Given the description of an element on the screen output the (x, y) to click on. 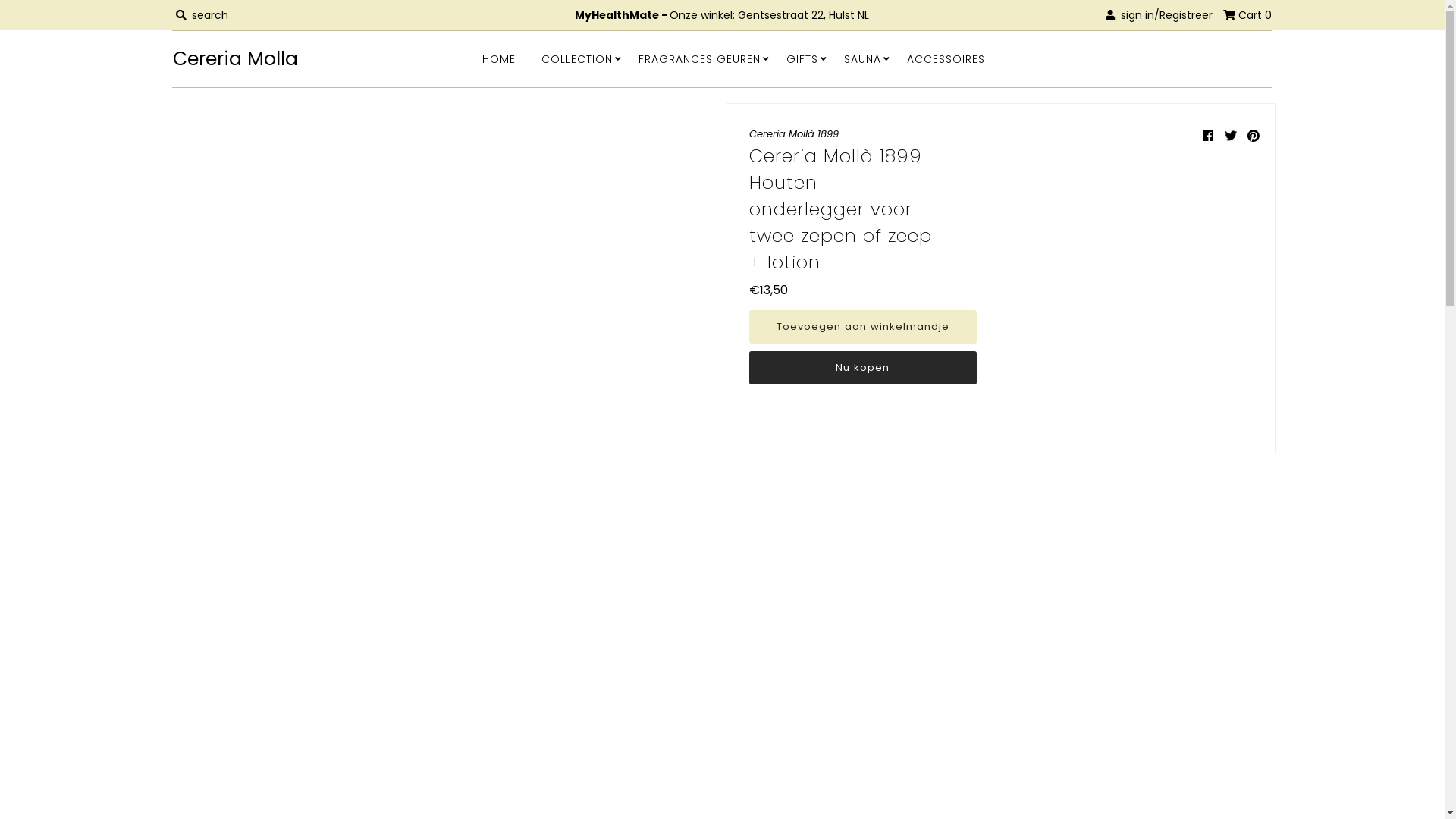
Toevoegen aan winkelmandje Element type: text (862, 326)
SAUNA Element type: text (862, 58)
HOME Element type: text (498, 58)
Cereria Molla Element type: text (282, 58)
 Cart 0 Element type: text (1247, 15)
Share on Twitter Element type: hover (1230, 135)
ACCESSOIRES Element type: text (945, 58)
GIFTS Element type: text (802, 58)
FRAGRANCES GEUREN Element type: text (699, 58)
Share on Pinterest Element type: hover (1253, 135)
Nu kopen Element type: text (862, 367)
  sign in/Registreer Element type: text (1158, 15)
COLLECTION Element type: text (577, 58)
